Given the description of an element on the screen output the (x, y) to click on. 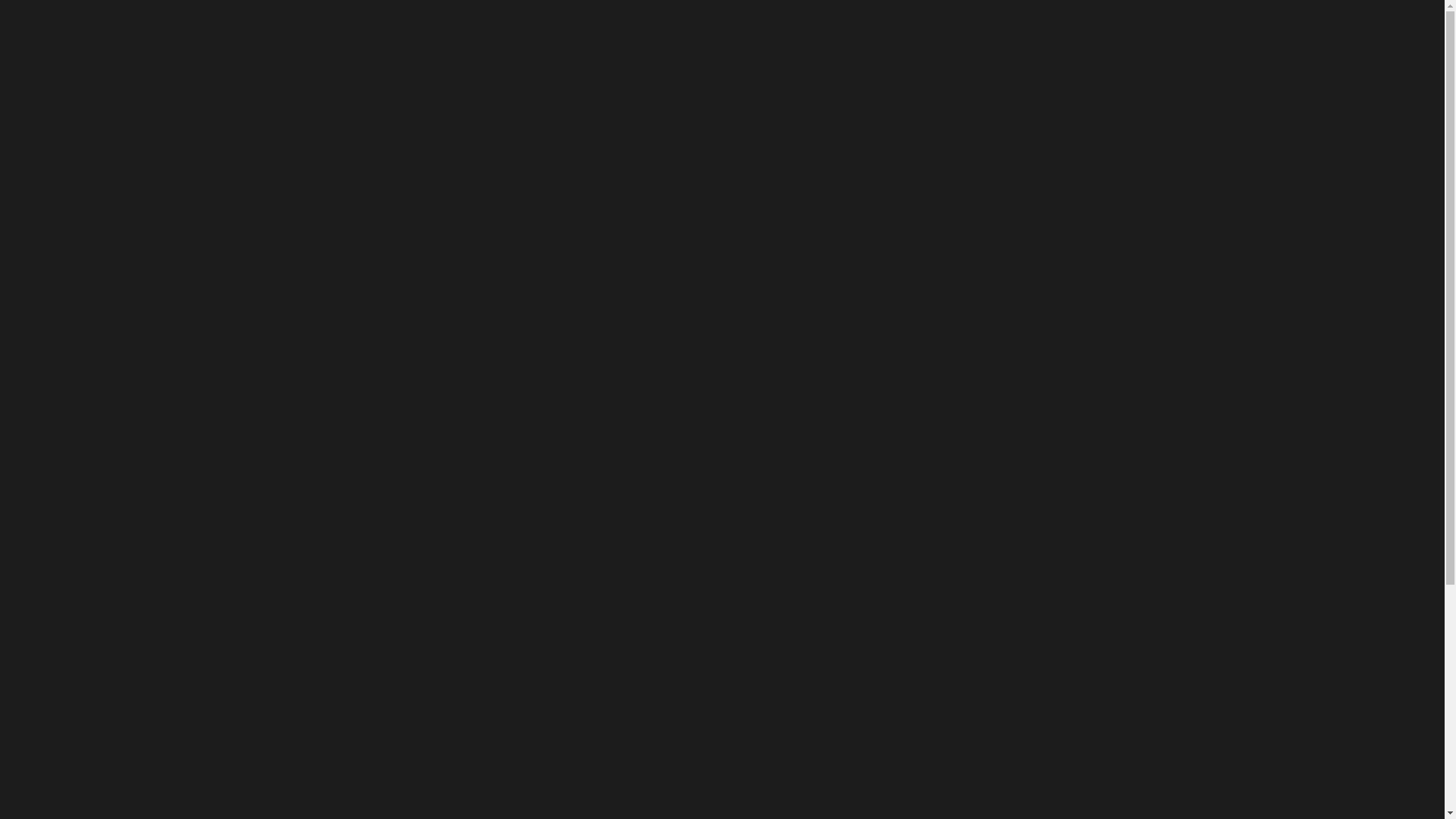
U Element type: text (1004, 413)
